Given the description of an element on the screen output the (x, y) to click on. 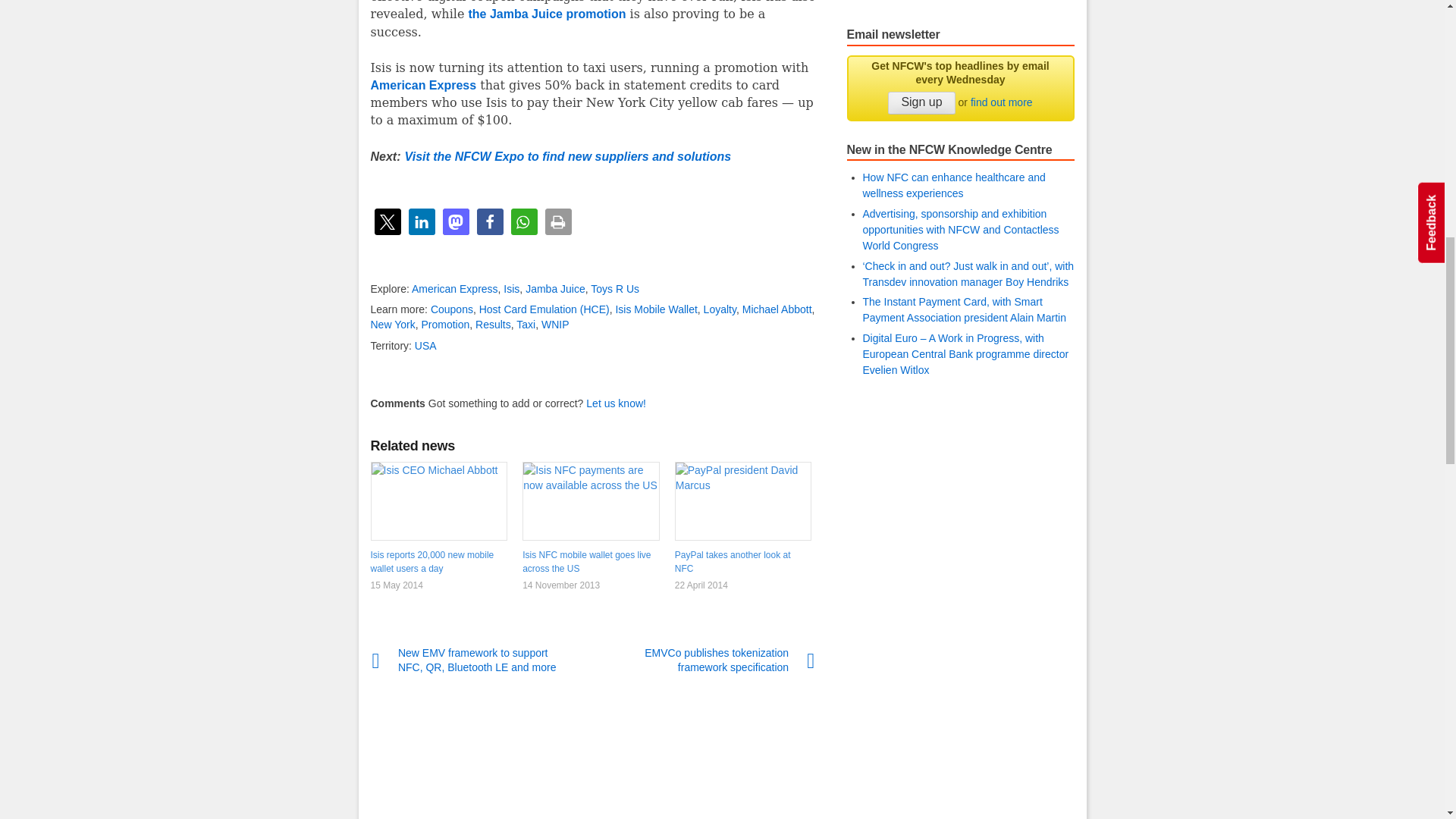
210 more items that mention American Express (454, 288)
Share on Whatsapp (524, 221)
Share on Facebook (489, 221)
print (557, 221)
Share on Mastodon (455, 221)
Share on LinkedIn (420, 221)
125 more items that mention Isis (511, 288)
Share on X (387, 221)
